Given the description of an element on the screen output the (x, y) to click on. 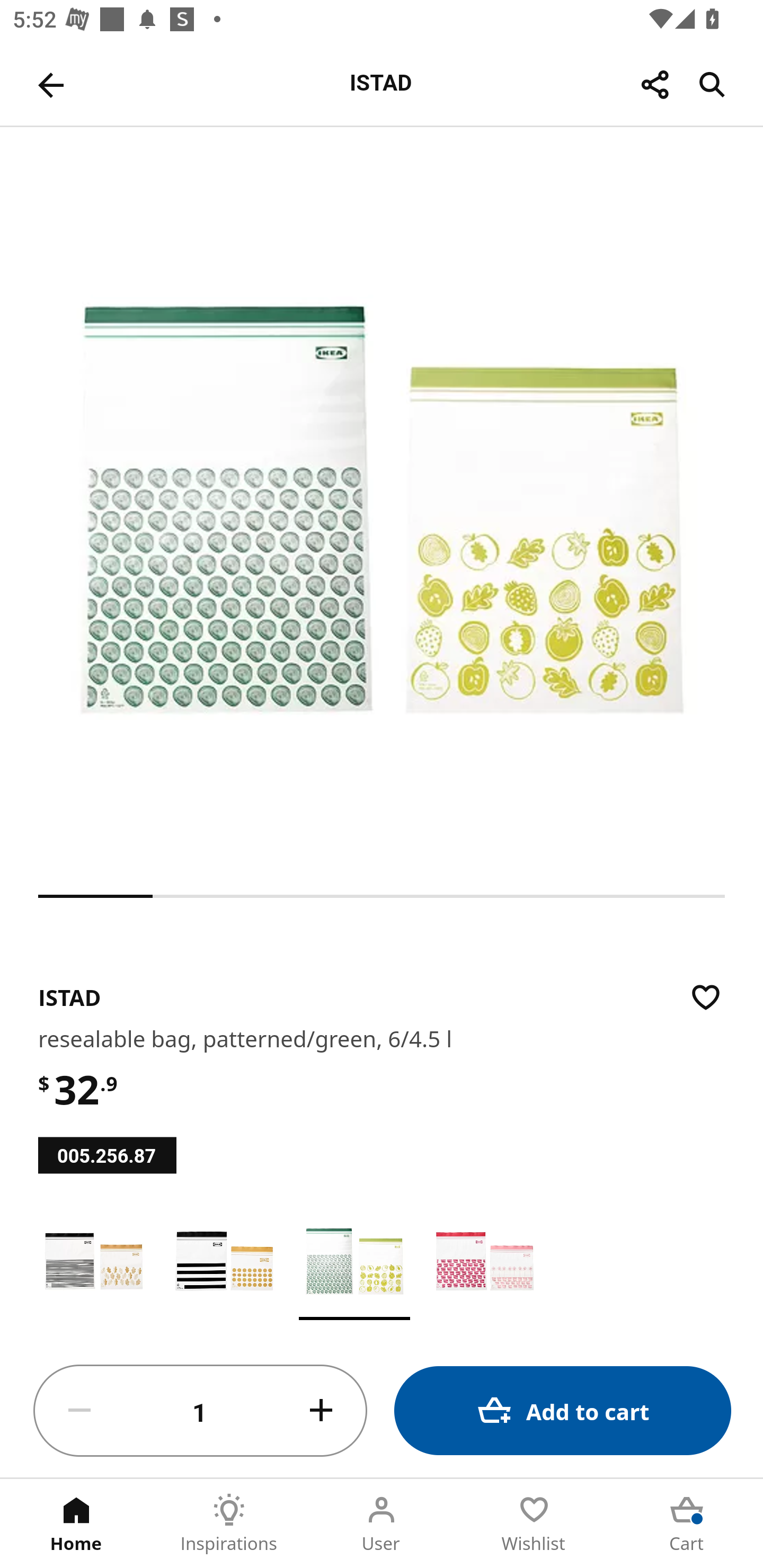
Add to cart (562, 1410)
1 (200, 1411)
Home
Tab 1 of 5 (76, 1522)
Inspirations
Tab 2 of 5 (228, 1522)
User
Tab 3 of 5 (381, 1522)
Wishlist
Tab 4 of 5 (533, 1522)
Cart
Tab 5 of 5 (686, 1522)
